Given the description of an element on the screen output the (x, y) to click on. 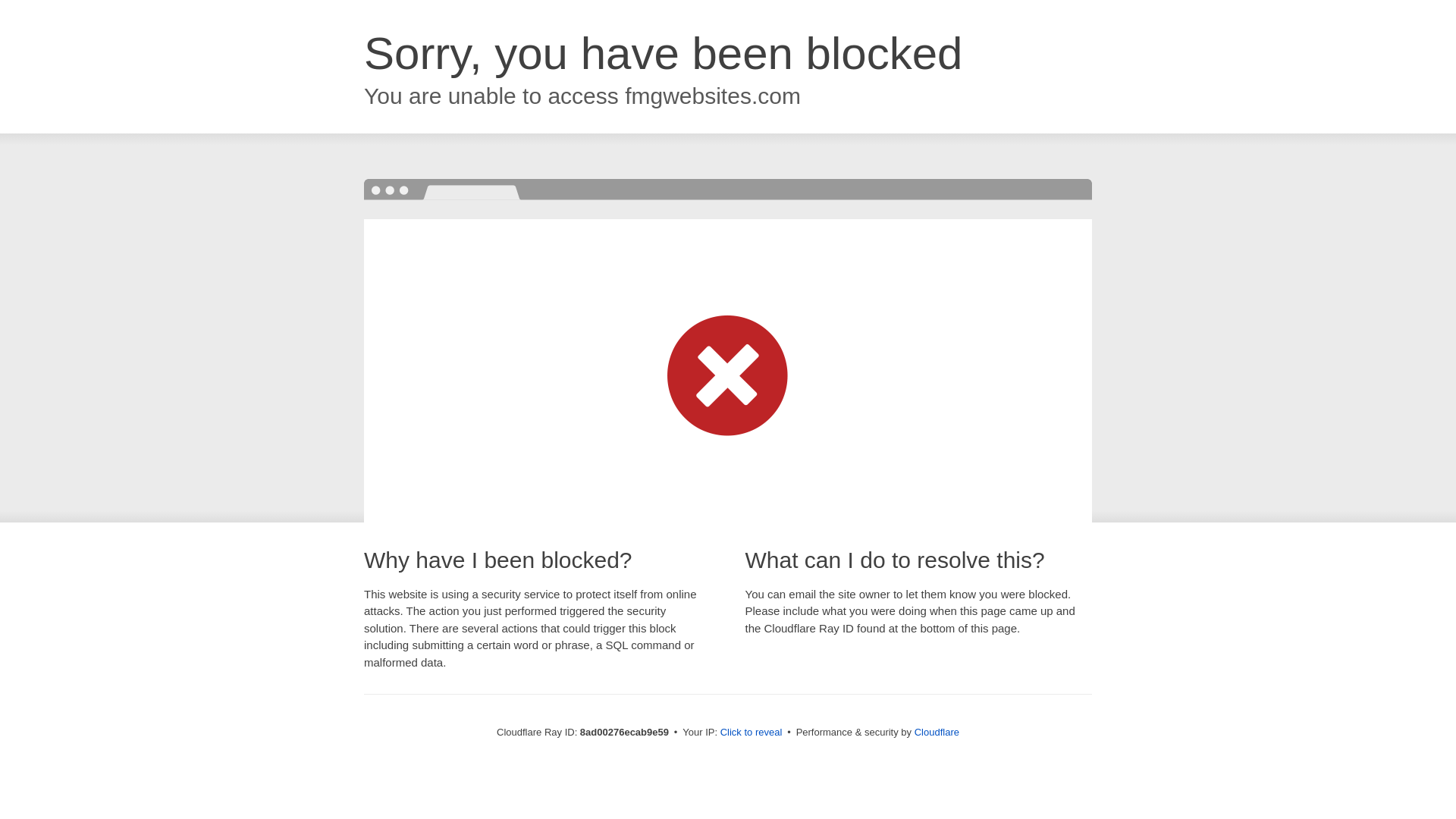
Click to reveal (751, 732)
Cloudflare (936, 731)
